Given the description of an element on the screen output the (x, y) to click on. 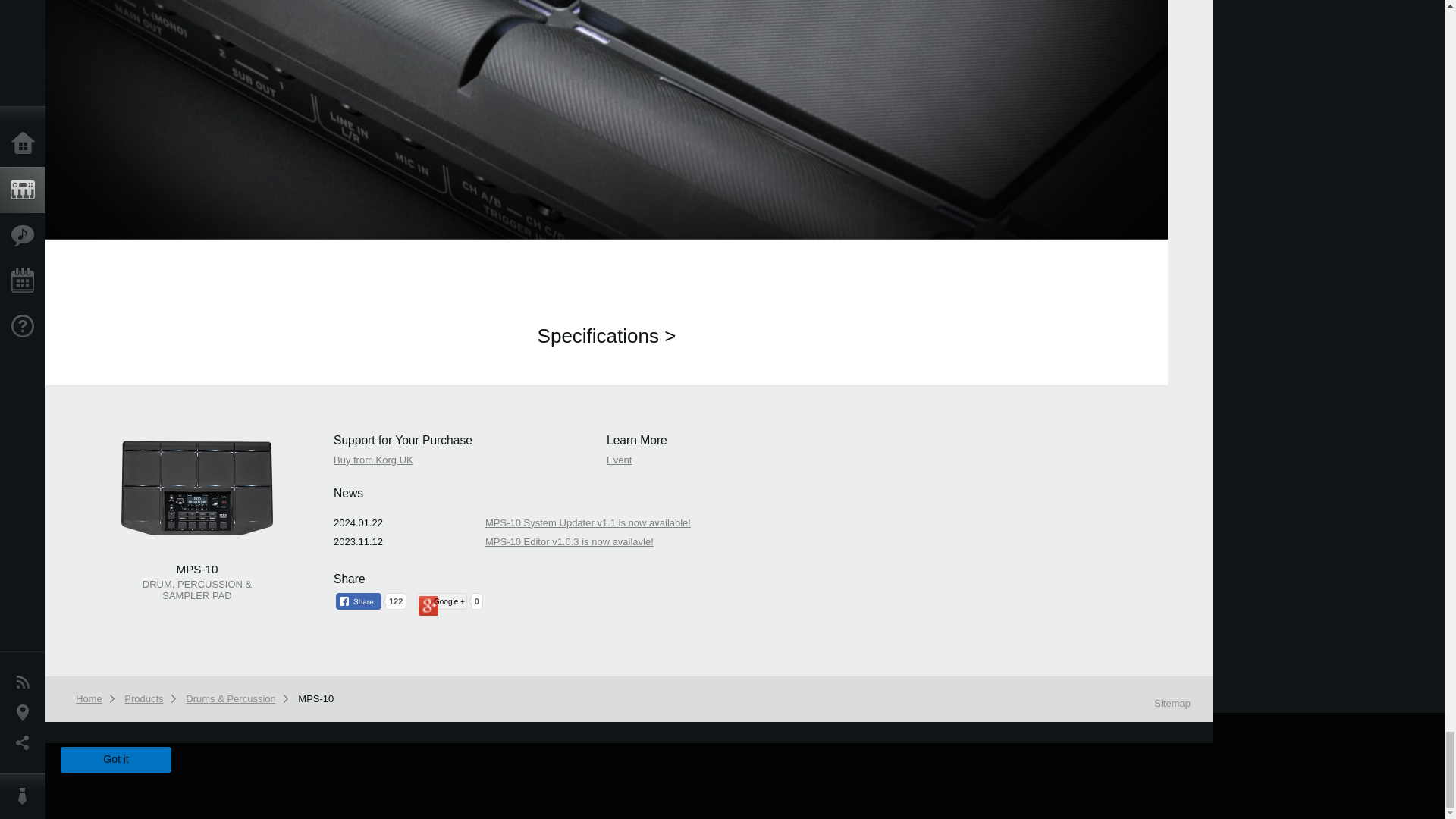
MPS-10 Editor v1.0.3 is now availavle! (568, 541)
Sitemap (1172, 703)
MPS-10 (317, 698)
Home (91, 698)
MPS-10 System Updater v1.1 is now available! (587, 522)
Event (619, 460)
Products (145, 698)
Buy from Korg UK (373, 460)
